Given the description of an element on the screen output the (x, y) to click on. 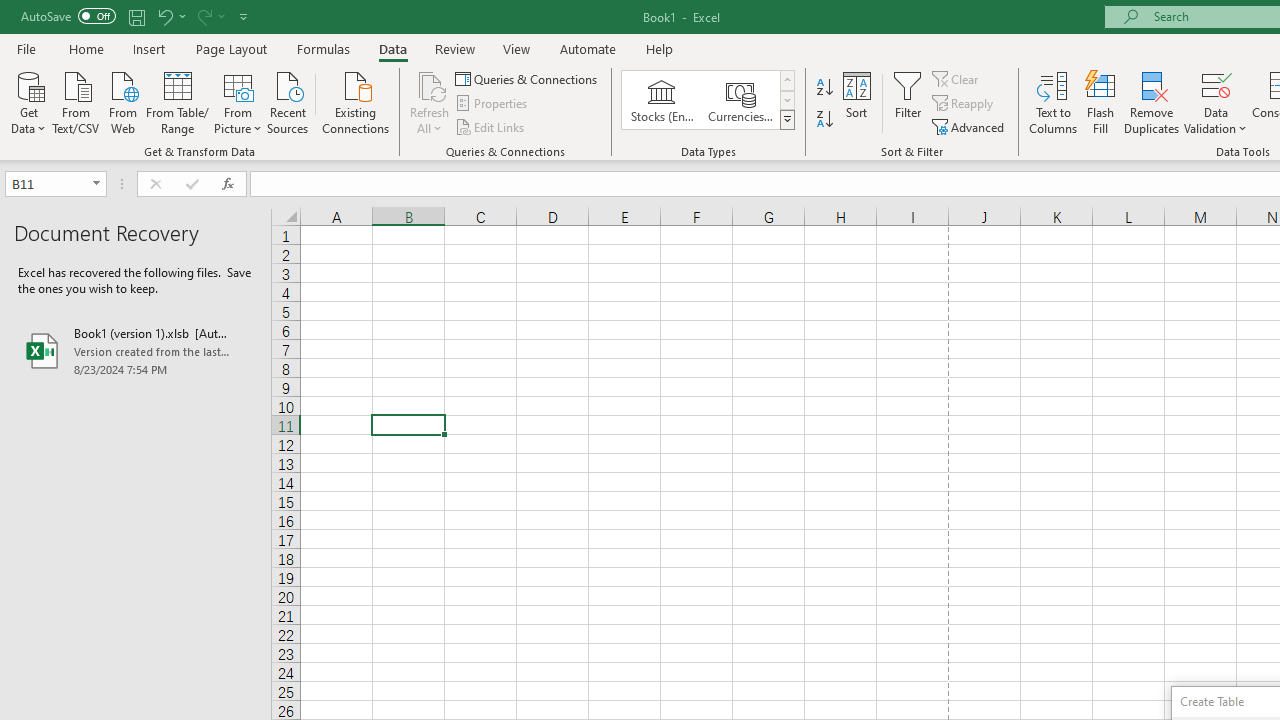
AutomationID: ConvertToLinkedEntity (708, 99)
Text to Columns... (1053, 102)
From Table/Range (177, 101)
Filter (908, 102)
Reapply (964, 103)
Properties (492, 103)
Advanced... (970, 126)
Recent Sources (287, 101)
Edit Links (491, 126)
